Given the description of an element on the screen output the (x, y) to click on. 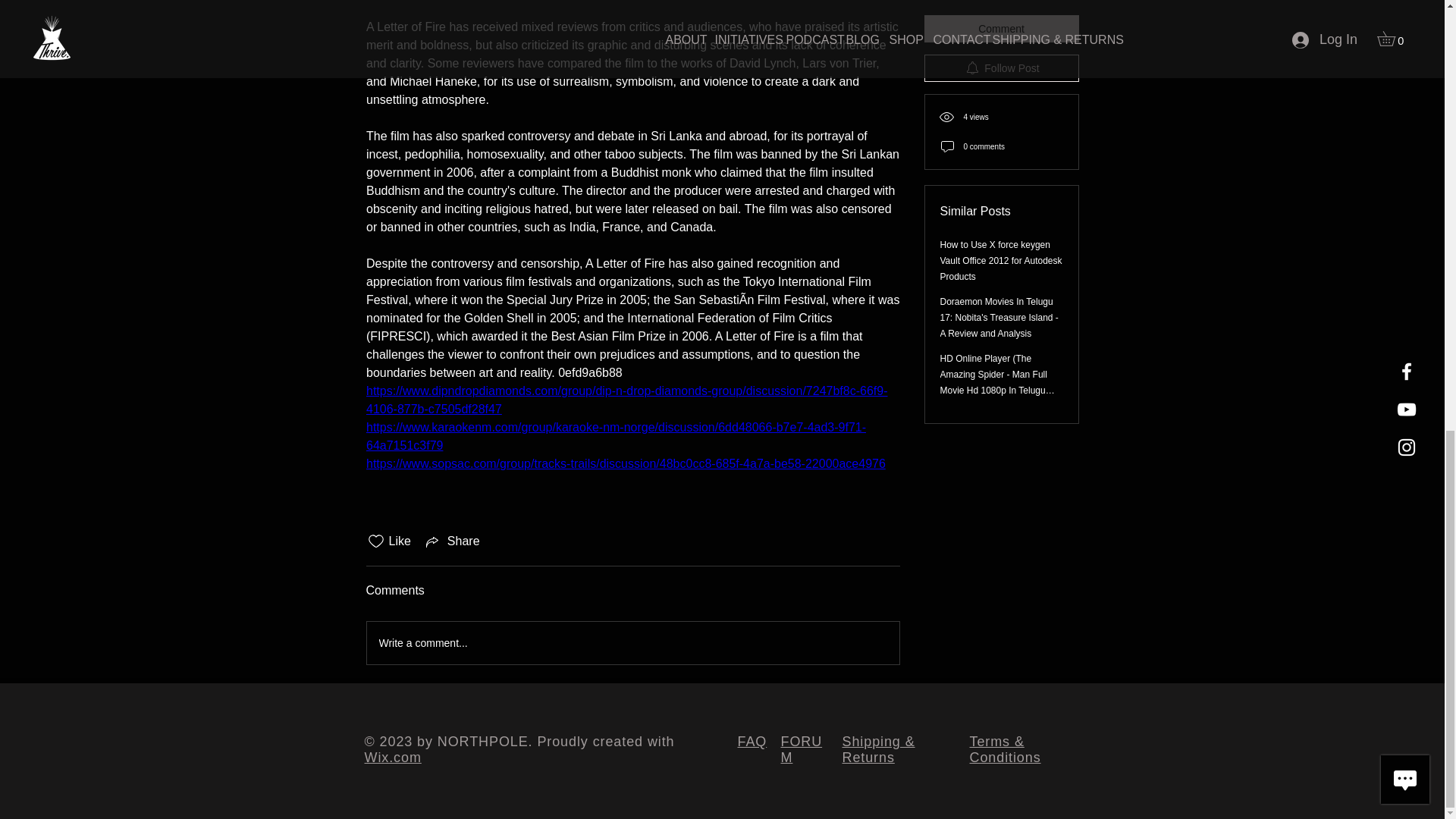
FORUM (801, 748)
Write a comment... (632, 642)
Share (451, 541)
FAQ (751, 741)
Wix.com (392, 757)
